Given the description of an element on the screen output the (x, y) to click on. 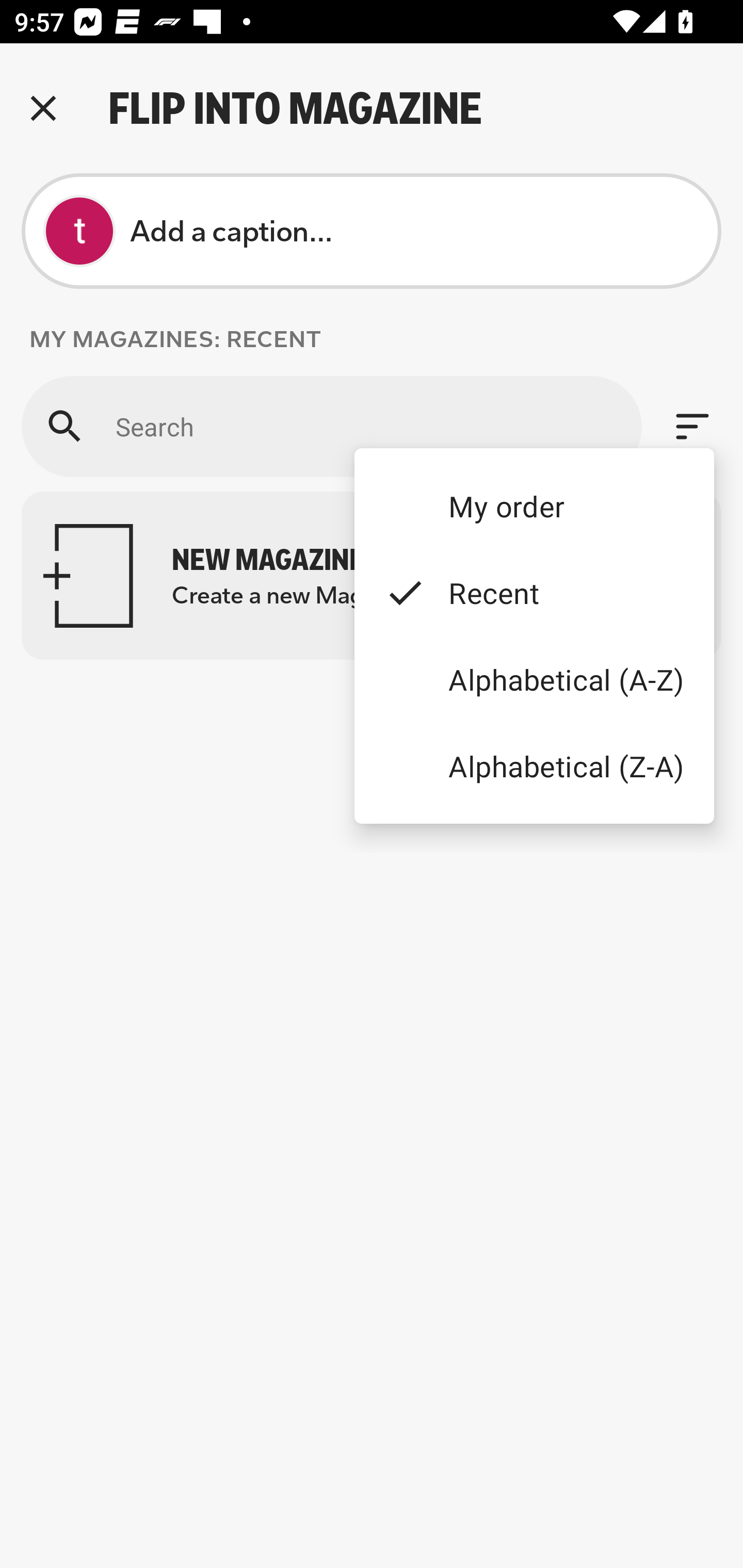
My order (534, 505)
Recent (534, 592)
Alphabetical (A-Z) (534, 679)
Alphabetical (Z-A) (534, 765)
